Given the description of an element on the screen output the (x, y) to click on. 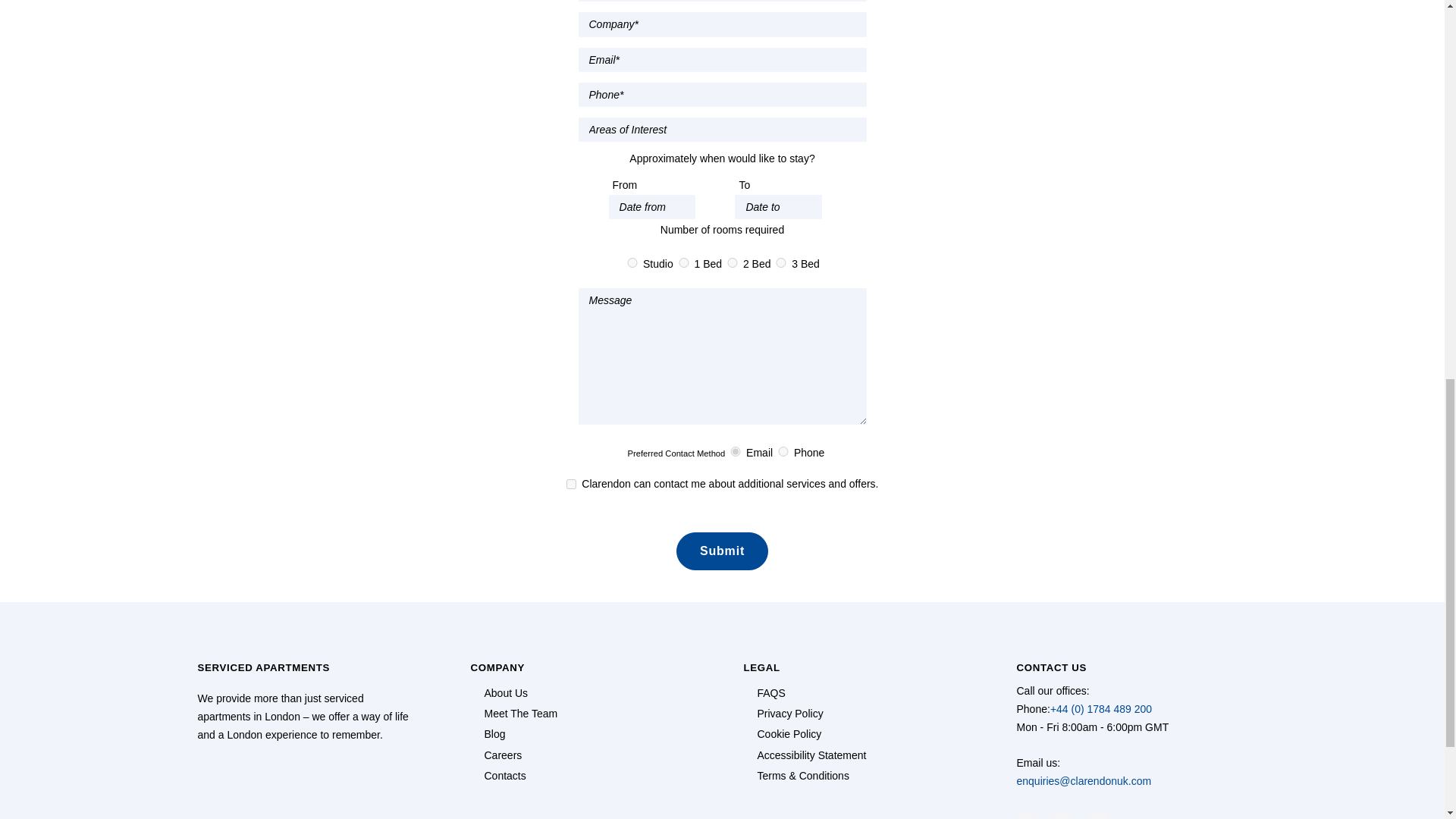
4 (632, 262)
3 (781, 262)
1 (684, 262)
yes (570, 483)
email (735, 451)
Submit (722, 551)
phone (783, 451)
2 (732, 262)
